Given the description of an element on the screen output the (x, y) to click on. 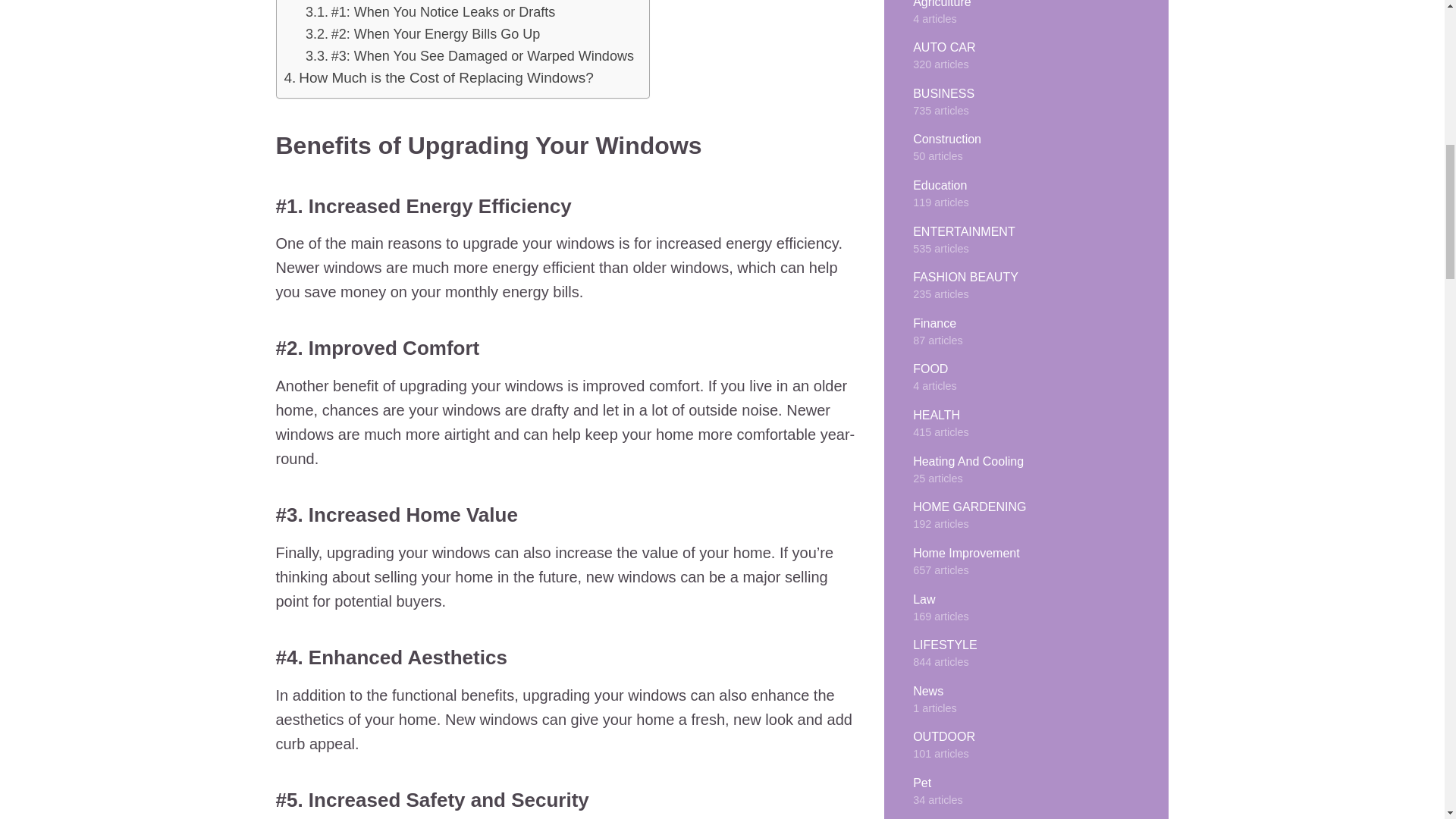
How Much is the Cost of Replacing Windows? (446, 77)
